Given the description of an element on the screen output the (x, y) to click on. 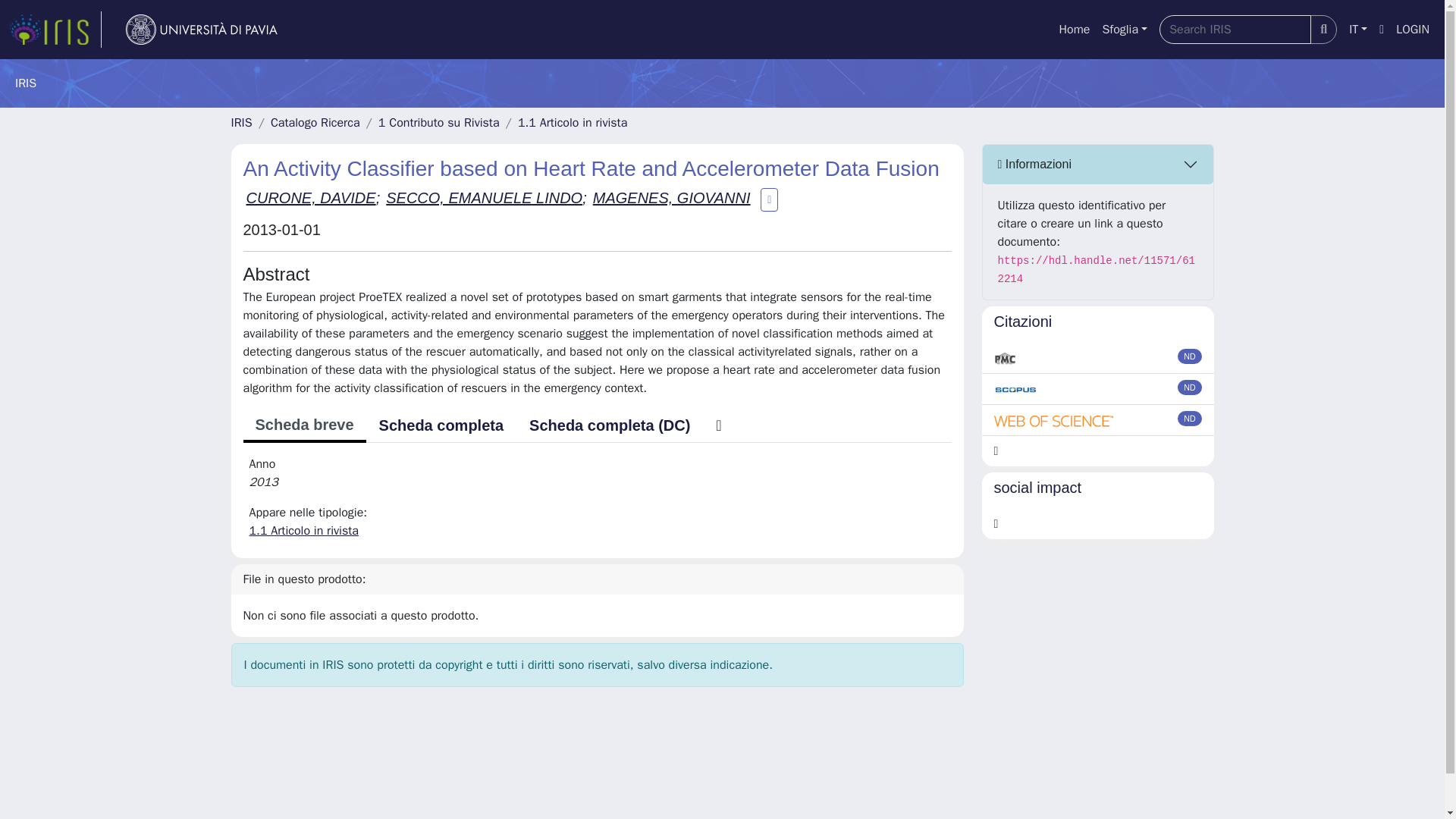
MAGENES, GIOVANNI (671, 197)
Home (1074, 29)
 Informazioni (1097, 164)
Scheda completa (441, 425)
IRIS (240, 122)
1 Contributo su Rivista (438, 122)
Catalogo Ricerca (314, 122)
1.1 Articolo in rivista (303, 530)
IT (1357, 29)
LOGIN (1412, 29)
